Given the description of an element on the screen output the (x, y) to click on. 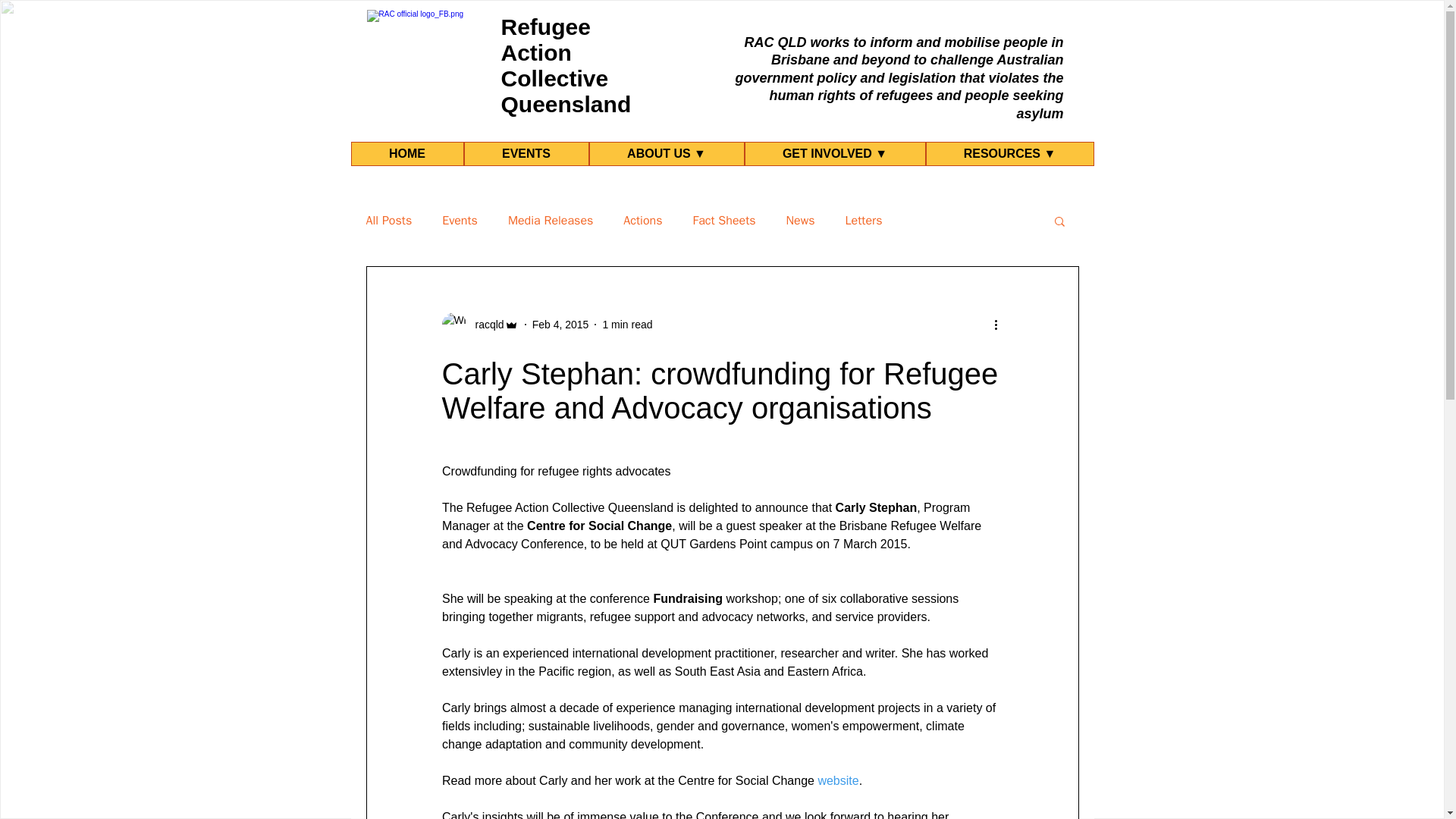
EVENTS (526, 153)
Actions (642, 220)
All Posts (388, 220)
website (837, 780)
Events (459, 220)
Fact Sheets (724, 220)
racqld (484, 324)
racqld (479, 324)
HOME (406, 153)
1 min read (627, 324)
